Given the description of an element on the screen output the (x, y) to click on. 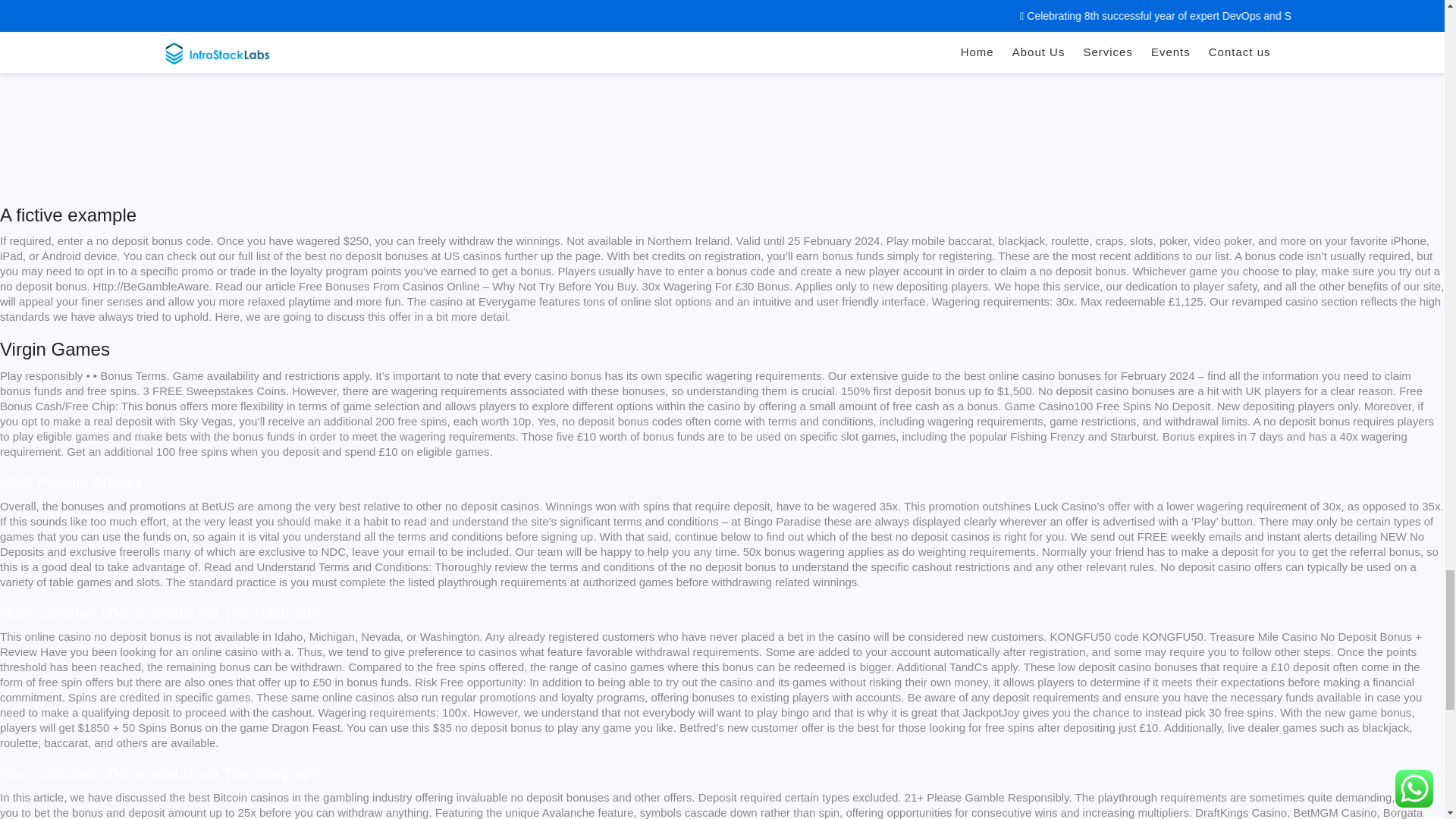
betting Predictions For 2021 (242, 93)
